Given the description of an element on the screen output the (x, y) to click on. 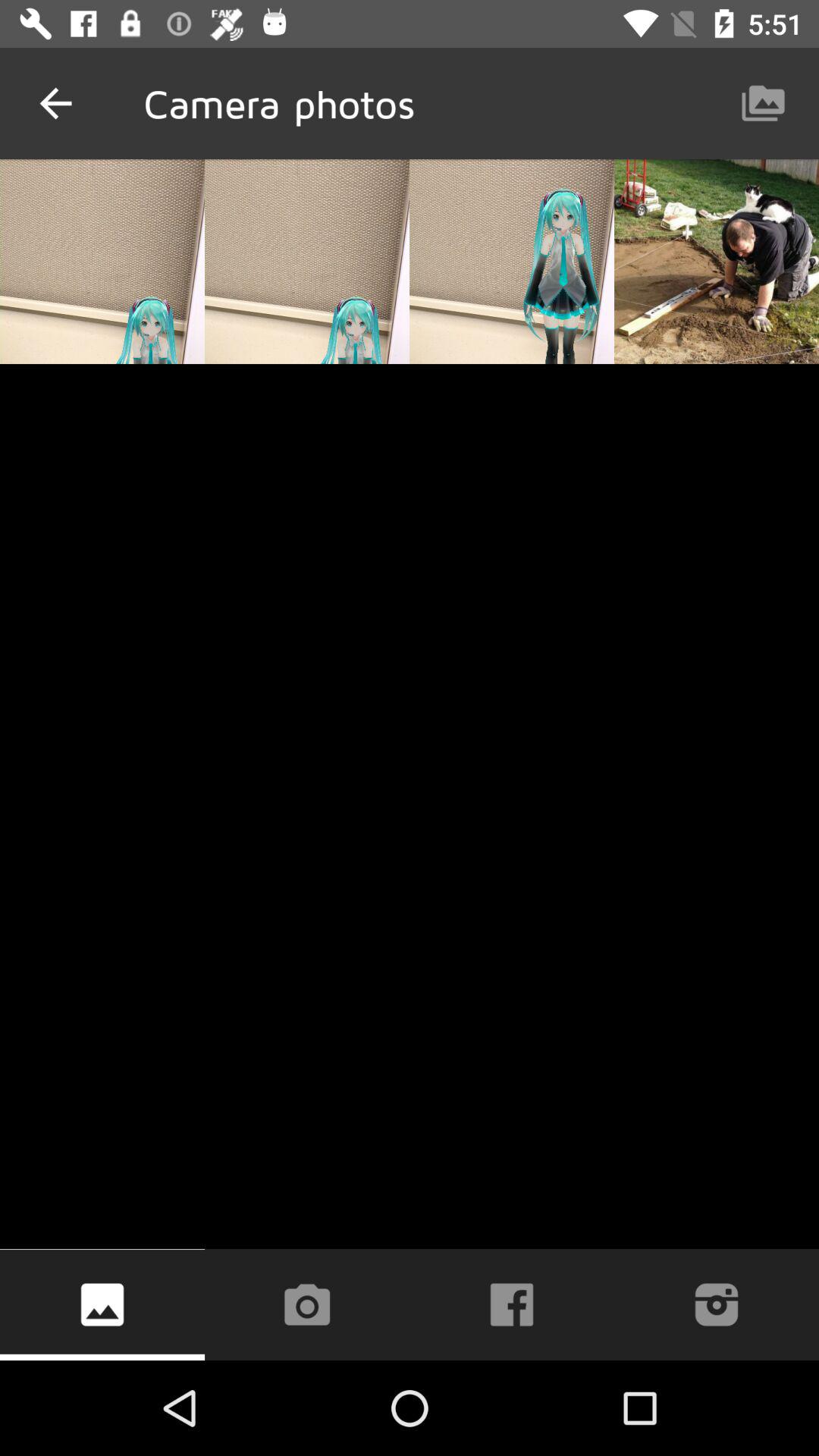
choose the icon to the left of camera photos item (55, 103)
